Given the description of an element on the screen output the (x, y) to click on. 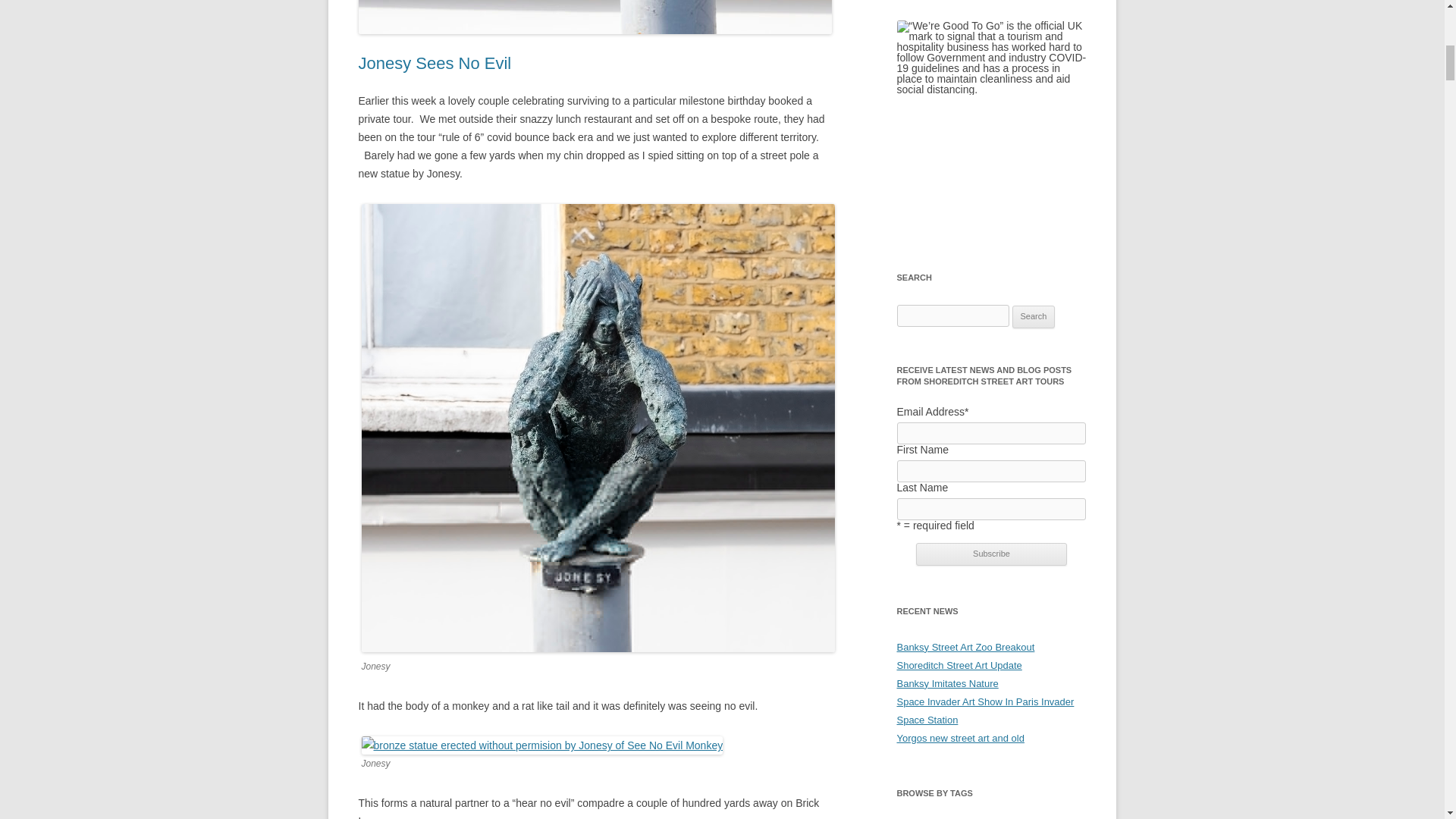
Search (1033, 316)
Permalink to Jonesy Sees No Evil (434, 63)
Jonesy Sees No Evil (434, 63)
Subscribe (991, 553)
